Given the description of an element on the screen output the (x, y) to click on. 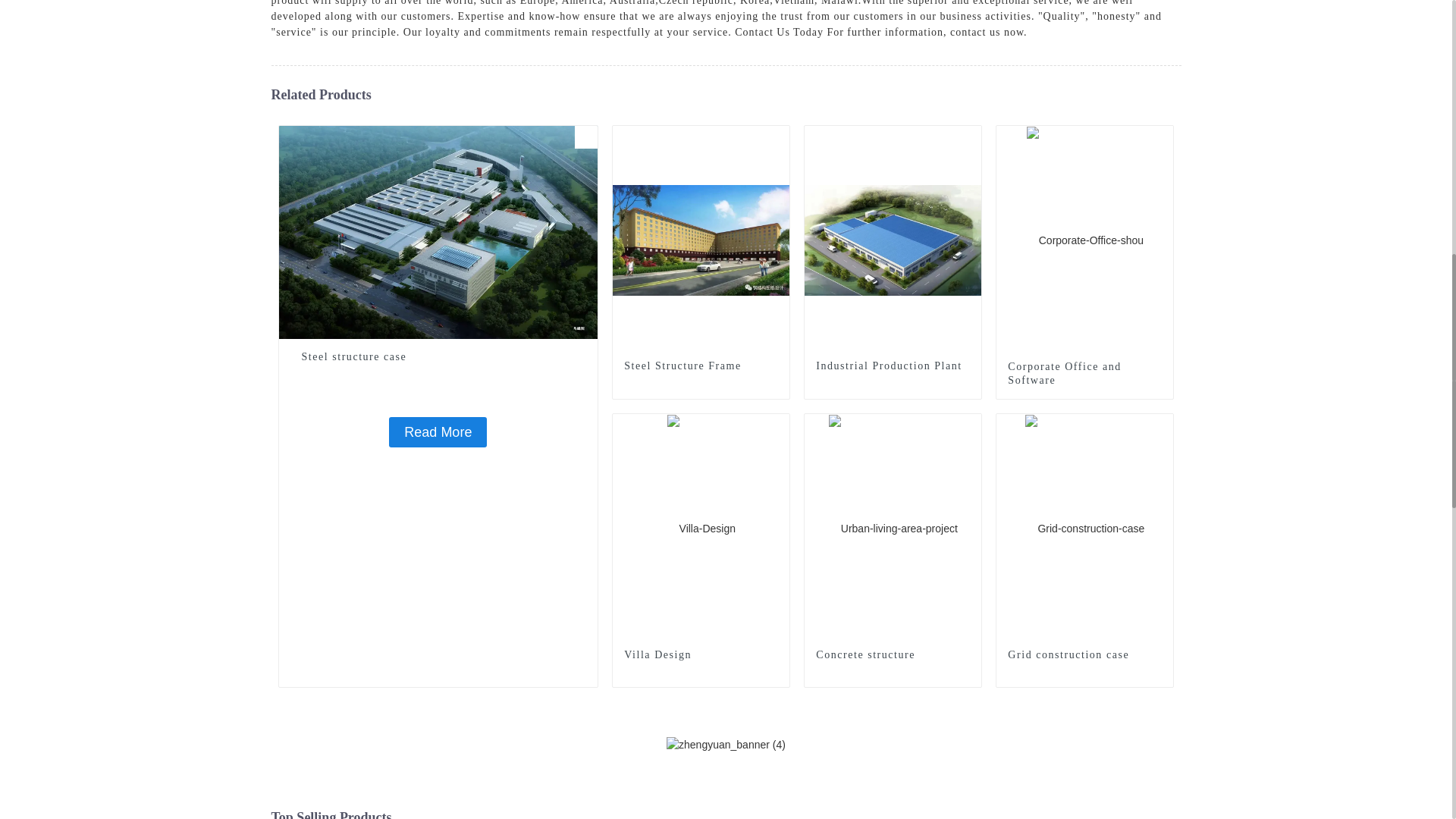
Corporate Office and Software (1084, 373)
Steel structure case (438, 356)
Industrial-Production-Plant-shou (969, 137)
Industrial Production Plant (893, 239)
Steel structure case (438, 356)
Steel Structure Frame (700, 366)
Corporate-Office-shou (1161, 137)
Corporate Office and Software (1084, 239)
Industrial Production Plant (892, 366)
Steel Structure Frame (700, 239)
Steel-Structure-Frame (778, 137)
Villa Design (700, 527)
Steel structure case (437, 431)
Steel structure case (438, 231)
Industrial-park-design-case (585, 137)
